Given the description of an element on the screen output the (x, y) to click on. 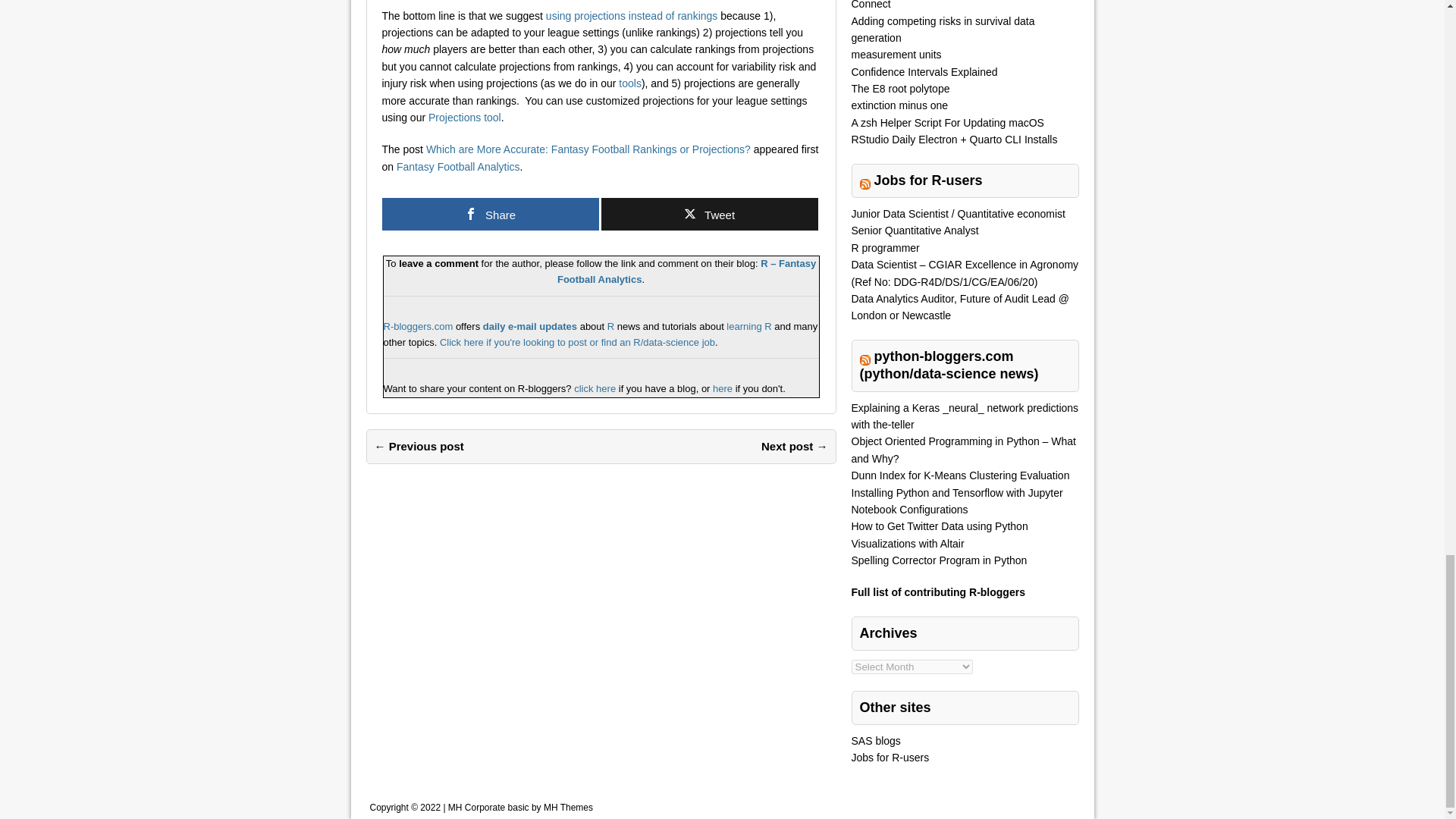
Data science jobs (576, 342)
Projections tool (464, 117)
tools (630, 82)
R tutorials (748, 326)
SAS news gathered from bloggers (874, 740)
using projections instead of rankings (631, 15)
